Given the description of an element on the screen output the (x, y) to click on. 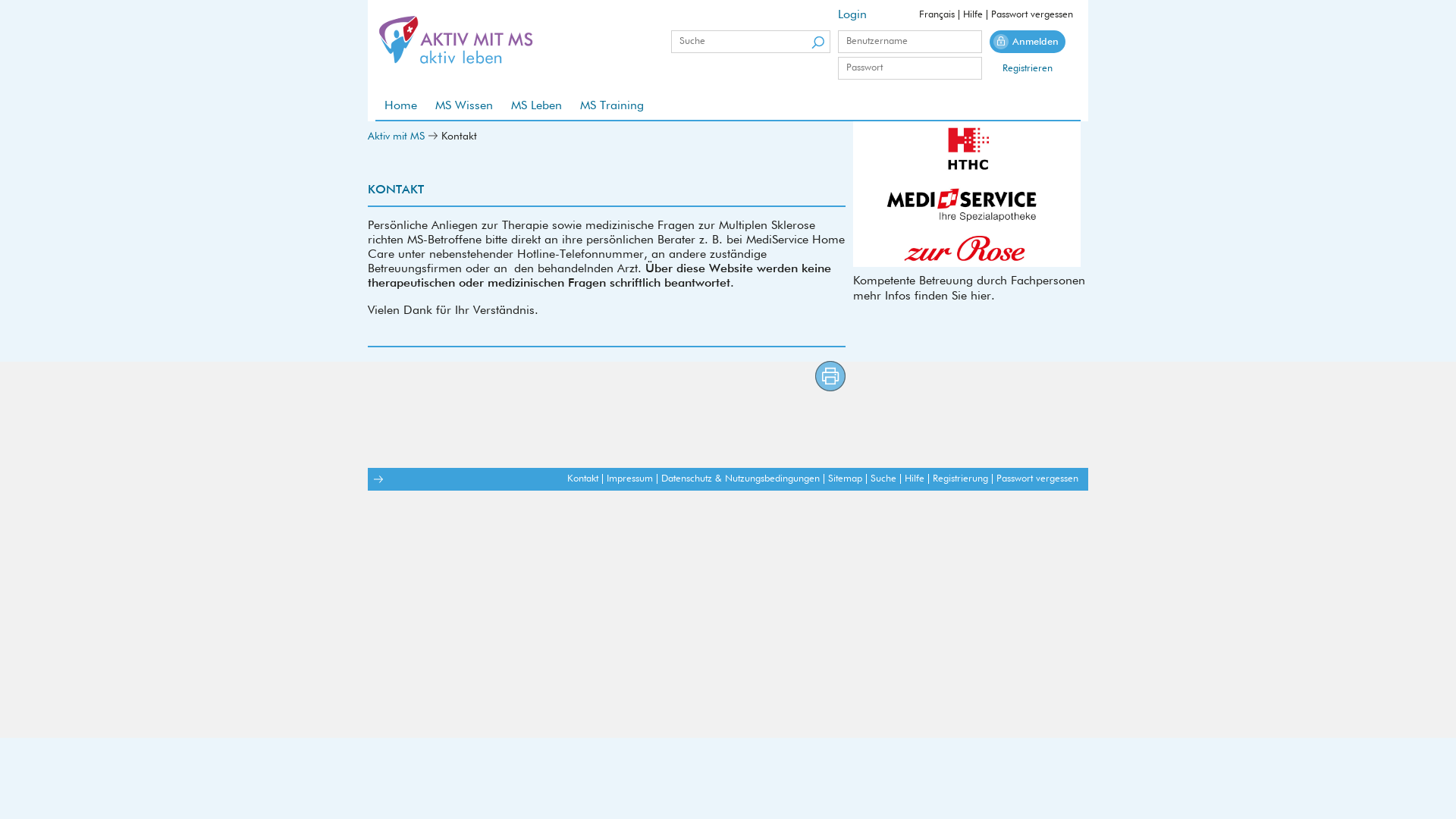
Passwort vergessen Element type: text (1036, 478)
Hilfe Element type: text (914, 478)
MS Leben Element type: text (536, 106)
Suchen Element type: text (817, 42)
Kontakt Element type: text (582, 478)
Registrieren Element type: text (1027, 67)
Hilfe Element type: text (972, 14)
Aktiv mit MS Element type: text (395, 136)
Anmelden Element type: text (1027, 41)
Diese Seite drucken Element type: text (830, 375)
Passwort vergessen Element type: text (1032, 14)
Datenschutz & Nutzungsbedingungen Element type: text (739, 478)
Impressum Element type: text (629, 478)
Suche Element type: text (883, 478)
Home Element type: text (400, 106)
MS Wissen Element type: text (464, 106)
Sitemap Element type: text (844, 478)
MS Training Element type: text (611, 106)
Registrierung Element type: text (959, 478)
